Given the description of an element on the screen output the (x, y) to click on. 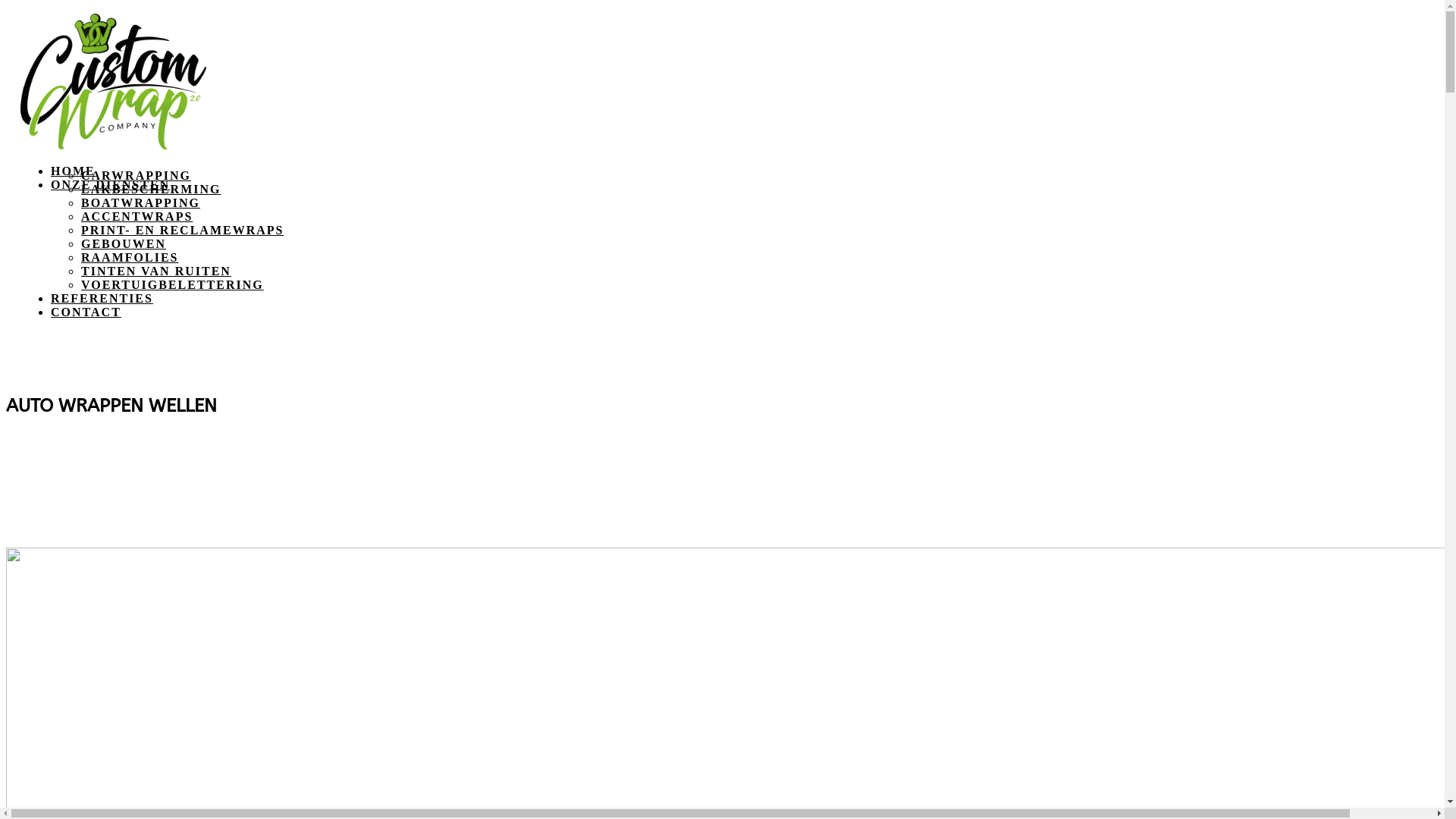
ACCENTWRAPS Element type: text (136, 216)
CONTACT Element type: text (85, 311)
HOME Element type: text (72, 170)
TINTEN VAN RUITEN Element type: text (156, 270)
REFERENTIES Element type: text (101, 297)
VOERTUIGBELETTERING Element type: text (172, 284)
BOATWRAPPING Element type: text (140, 202)
CARWRAPPING Element type: text (136, 175)
LAKBESCHERMING Element type: text (150, 188)
ONZE DIENSTEN Element type: text (109, 184)
GEBOUWEN Element type: text (123, 243)
PRINT- EN RECLAMEWRAPS Element type: text (182, 229)
RAAMFOLIES Element type: text (129, 257)
